Given the description of an element on the screen output the (x, y) to click on. 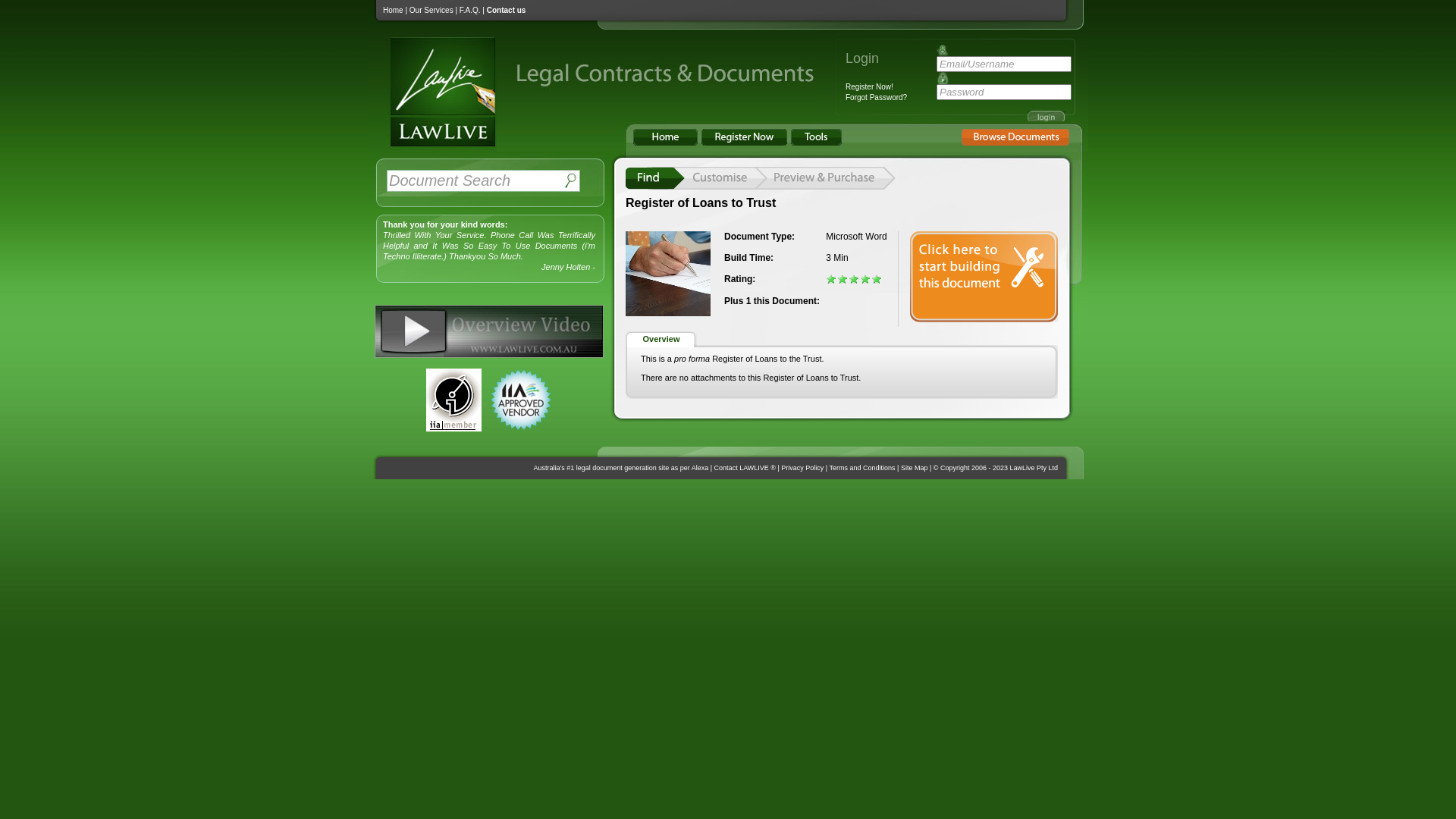
Register Now! Element type: text (869, 86)
Terms and Conditions Element type: text (862, 467)
Forgot Password? Element type: text (875, 97)
LawLive Element type: hover (431, 146)
Home Element type: text (392, 10)
Our Services Element type: text (431, 10)
Privacy Policy Element type: text (802, 467)
Site Map Element type: text (914, 467)
Overview Element type: text (660, 339)
Contact us Element type: text (506, 10)
F.A.Q. Element type: text (469, 10)
Document Search Element type: text (473, 180)
